Given the description of an element on the screen output the (x, y) to click on. 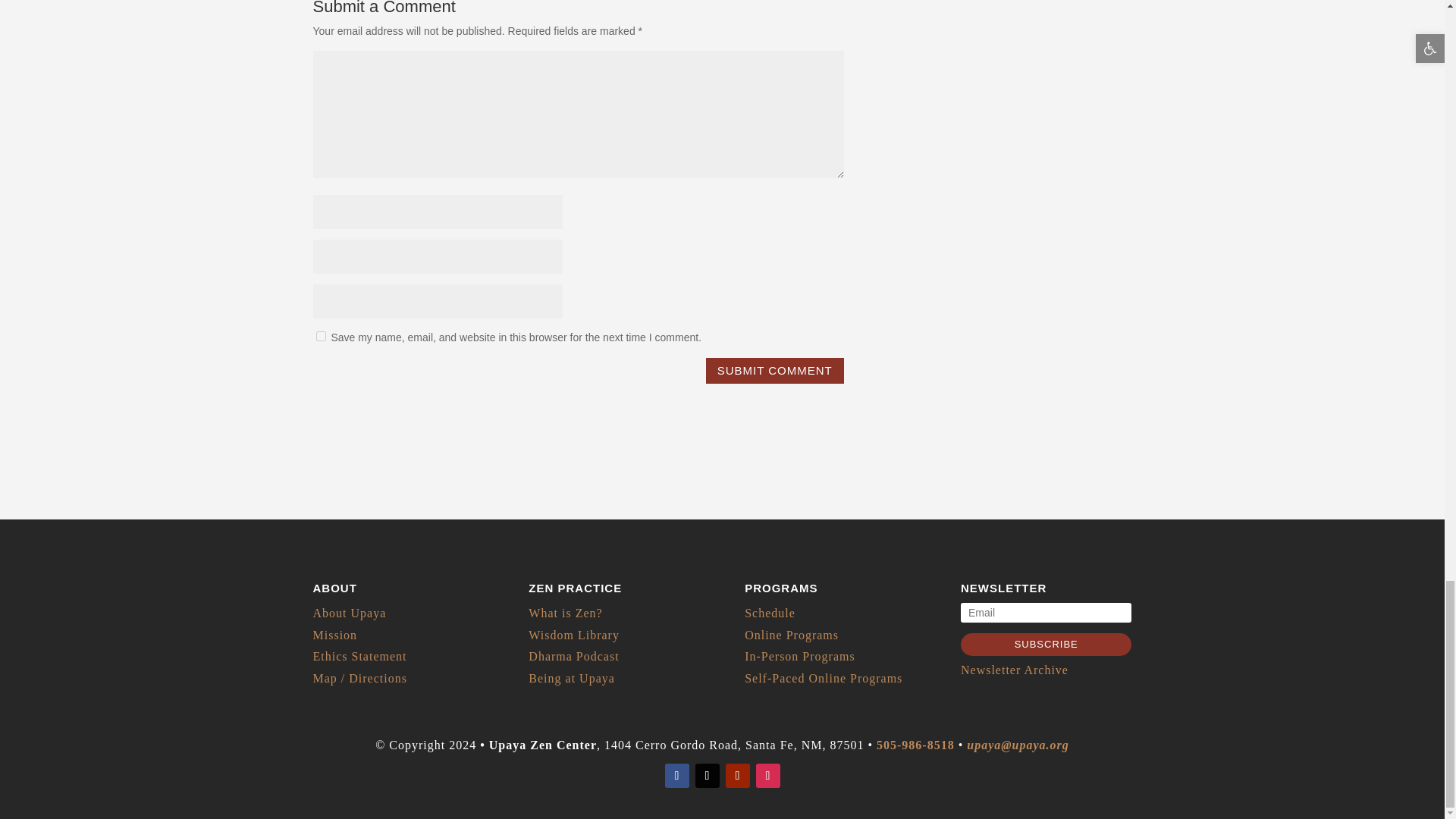
Follow on Facebook (675, 775)
yes (319, 336)
Follow on X (706, 775)
Follow on Youtube (737, 775)
Follow on Instagram (766, 775)
